Given the description of an element on the screen output the (x, y) to click on. 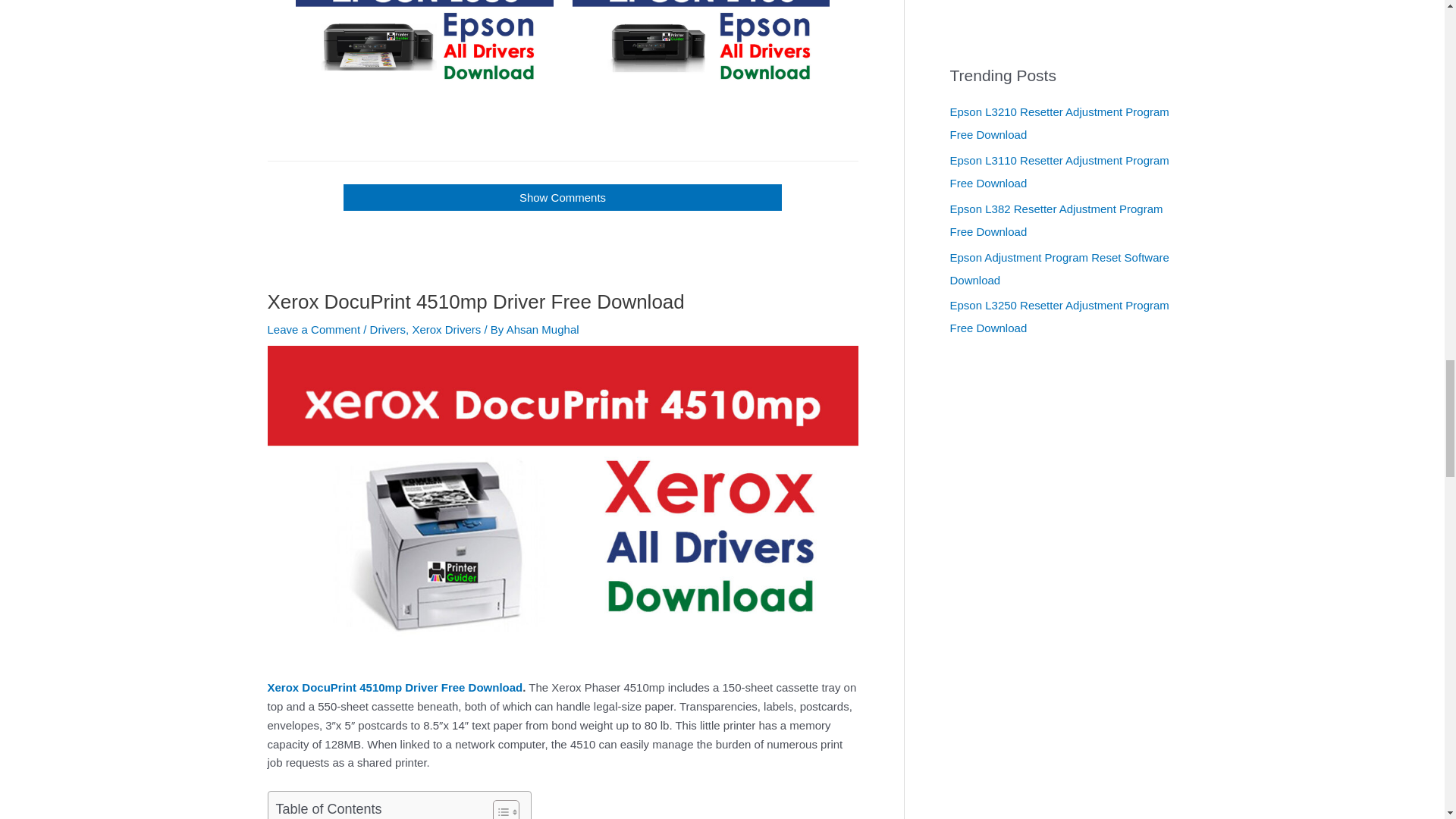
View all posts by Ahsan Mughal (542, 328)
